Given the description of an element on the screen output the (x, y) to click on. 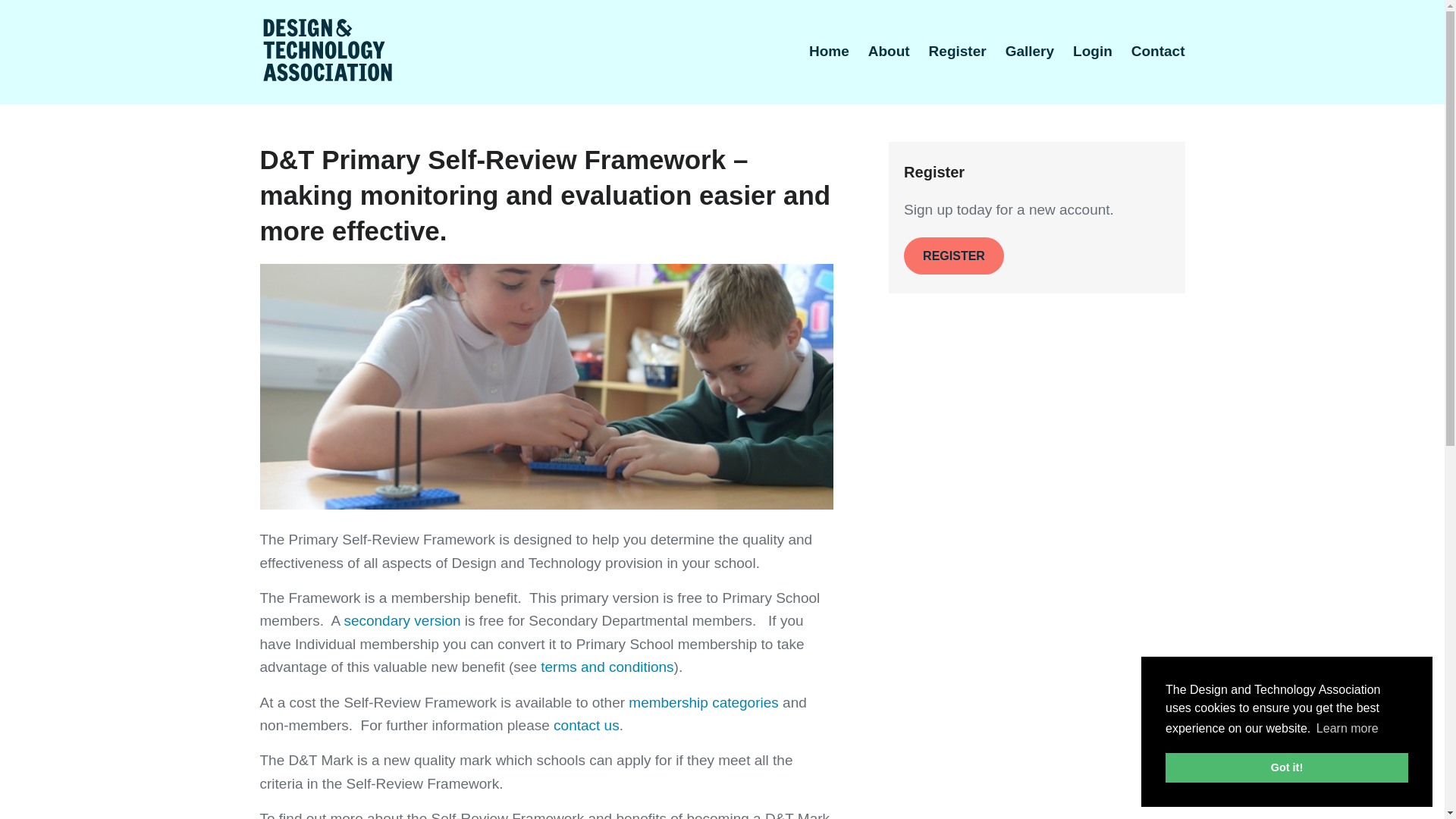
Register (957, 50)
Contact (1158, 50)
terms and conditions (606, 666)
contact us (586, 725)
REGISTER (954, 255)
Got it! (1286, 767)
secondary version (401, 620)
membership categories (702, 702)
Learn more (1347, 728)
